Given the description of an element on the screen output the (x, y) to click on. 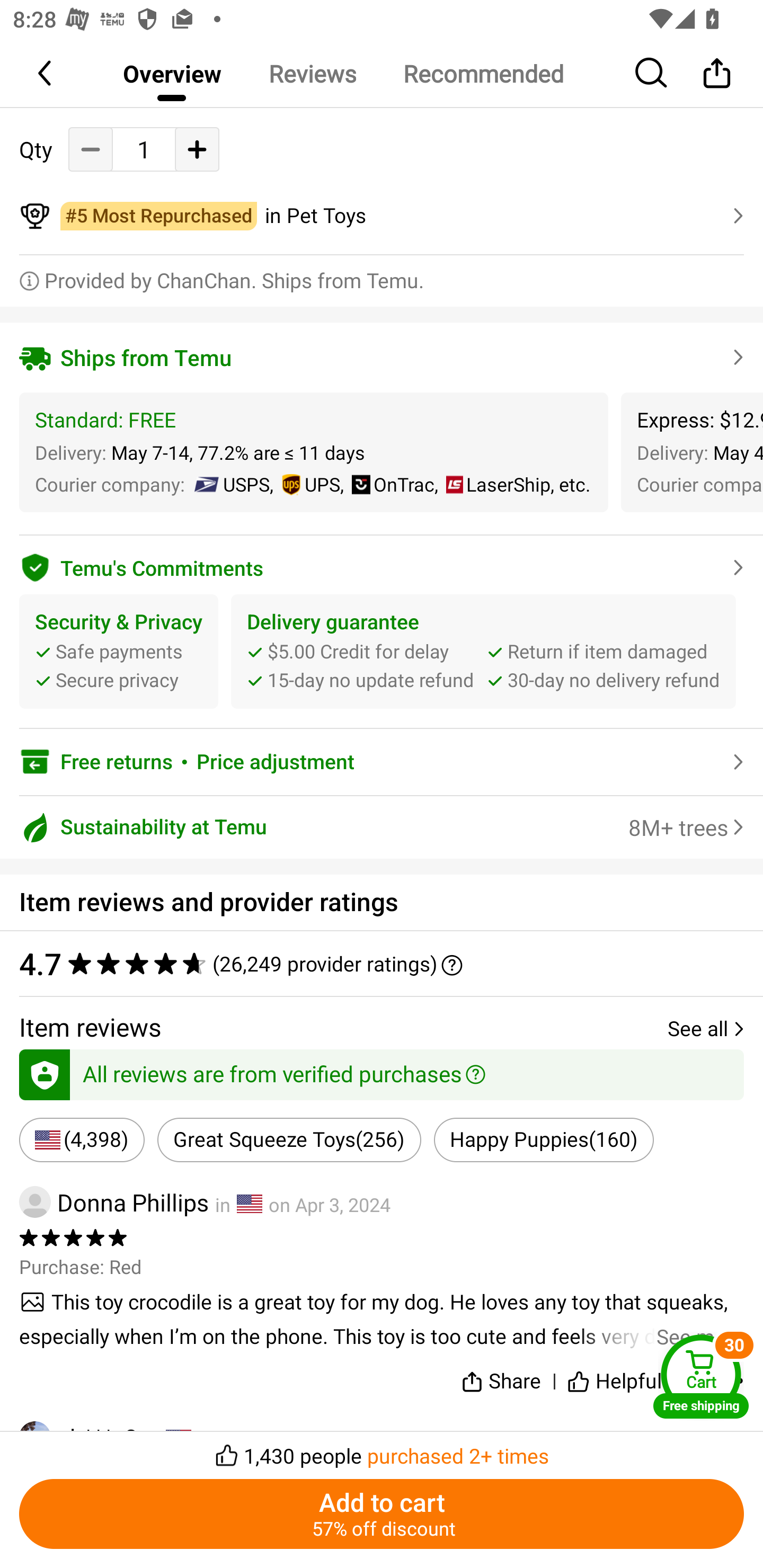
Overview (171, 72)
Reviews (311, 72)
Recommended (482, 72)
Back (46, 72)
Share (716, 72)
Decrease Quantity Button (90, 148)
Add Quantity button (196, 148)
1 (143, 149)
￼￼in Pet Toys (381, 216)
Ships from Temu (381, 357)
Temu's Commitments (381, 565)
Security & Privacy Safe payments Secure privacy (118, 651)
Free returns￼Price adjustment (381, 761)
Sustainability at Temu 8M+ trees (381, 827)
4.7 ‪(26,249 provider ratings) (371, 963)
All reviews are from verified purchases  (381, 1071)
(4,398) (81, 1139)
Great Squeeze Toys(256) (289, 1139)
Happy Puppies(160) (543, 1139)
Donna Phillips (114, 1201)
See more (381, 1319)
Cart Free shipping Cart (701, 1375)
  Share (500, 1377)
  Helpful (1) (629, 1377)
￼￼1,430 people purchased 2+ times (381, 1450)
Add to cart  57% off discount (381, 1513)
